Given the description of an element on the screen output the (x, y) to click on. 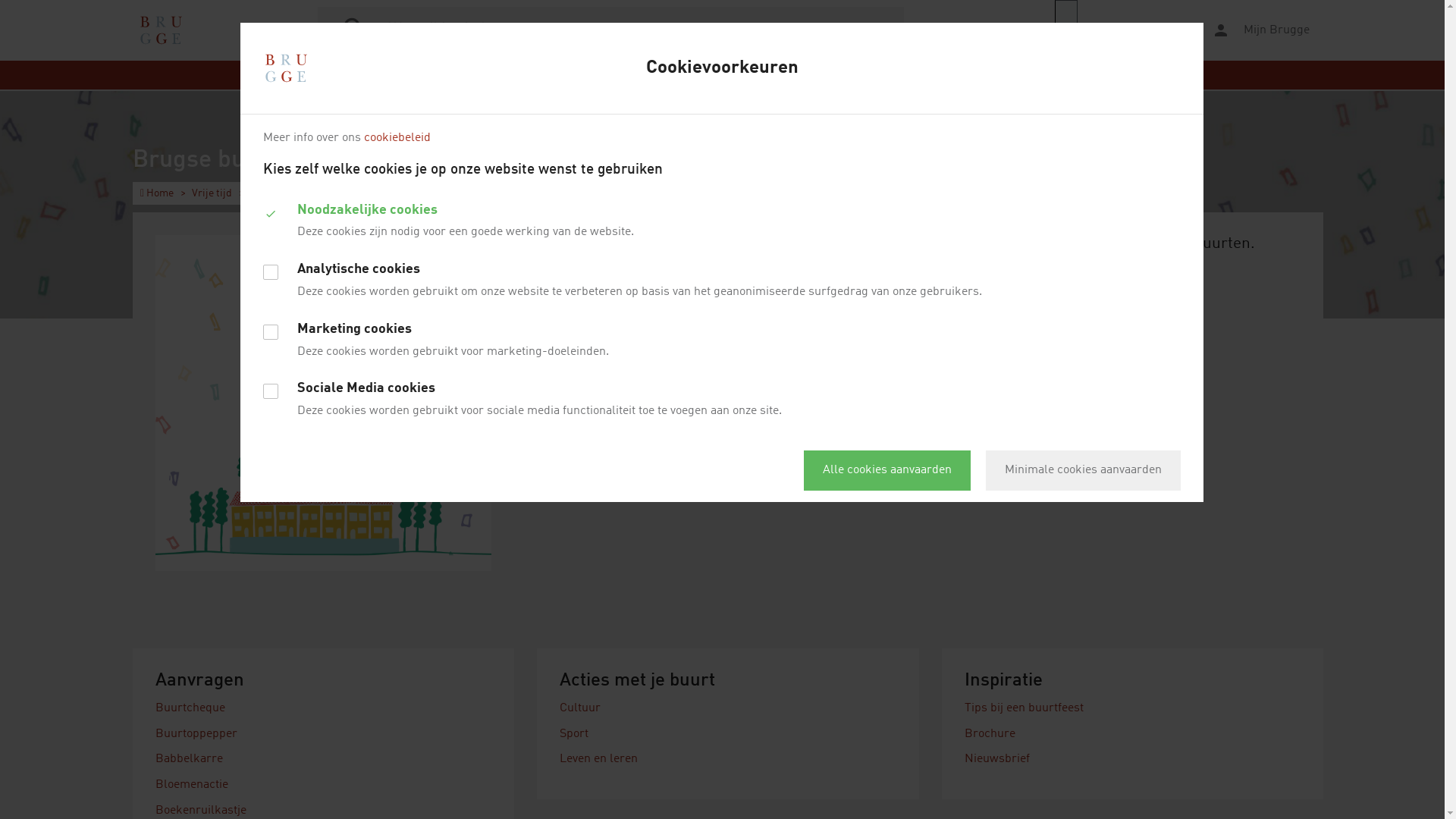
Boekenruilkastje Element type: text (200, 810)
Home Element type: text (156, 193)
Ga naar de startpagina Element type: hover (160, 30)
VRIJE TIJD Element type: text (697, 74)
Babbelkarre Element type: text (188, 759)
webReader menu Element type: hover (1065, 30)
cookiebeleid Element type: text (397, 137)
Brochure Element type: text (989, 734)
brugsebuurten@brugge.be Element type: text (1109, 286)
WERK & ONDERNEMEN Element type: text (800, 74)
BESTUUR Element type: text (1006, 74)
Bekijk de brochure Element type: text (1029, 385)
Cultuur Element type: text (579, 708)
WELZIJN & ZORG Element type: text (919, 74)
LEVEN & MOBILITEIT Element type: text (475, 74)
Tips bij een buurtfeest Element type: text (1023, 708)
WONEN & OMGEVING Element type: text (598, 74)
Leven en leren Element type: text (598, 759)
Vrije tijd Element type: text (211, 193)
Bekijk de openingsuren Element type: text (1027, 304)
050 44 82 22 Element type: text (996, 286)
Buurtoppepper Element type: text (196, 734)
Minimale cookies aanvaarden Element type: text (1082, 470)
Buurtcheque Element type: text (190, 708)
Alle cookies aanvaarden Element type: text (886, 470)
Lees voor Element type: text (1122, 30)
Sport Element type: text (573, 734)
Volg ons op facebook Element type: hover (1038, 330)
Bloemenactie Element type: text (191, 784)
Nieuwsbrief Element type: text (996, 759)
